Given the description of an element on the screen output the (x, y) to click on. 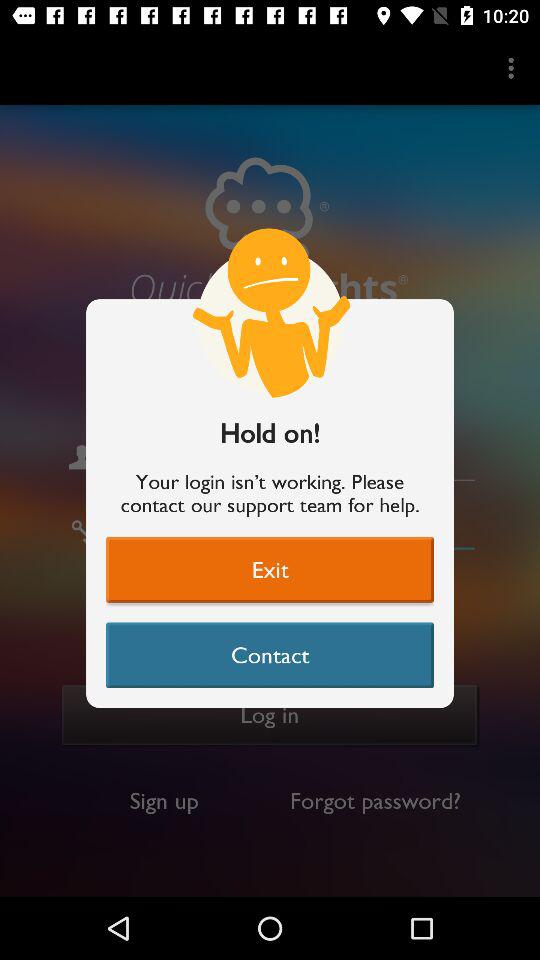
choose item above contact item (269, 569)
